Given the description of an element on the screen output the (x, y) to click on. 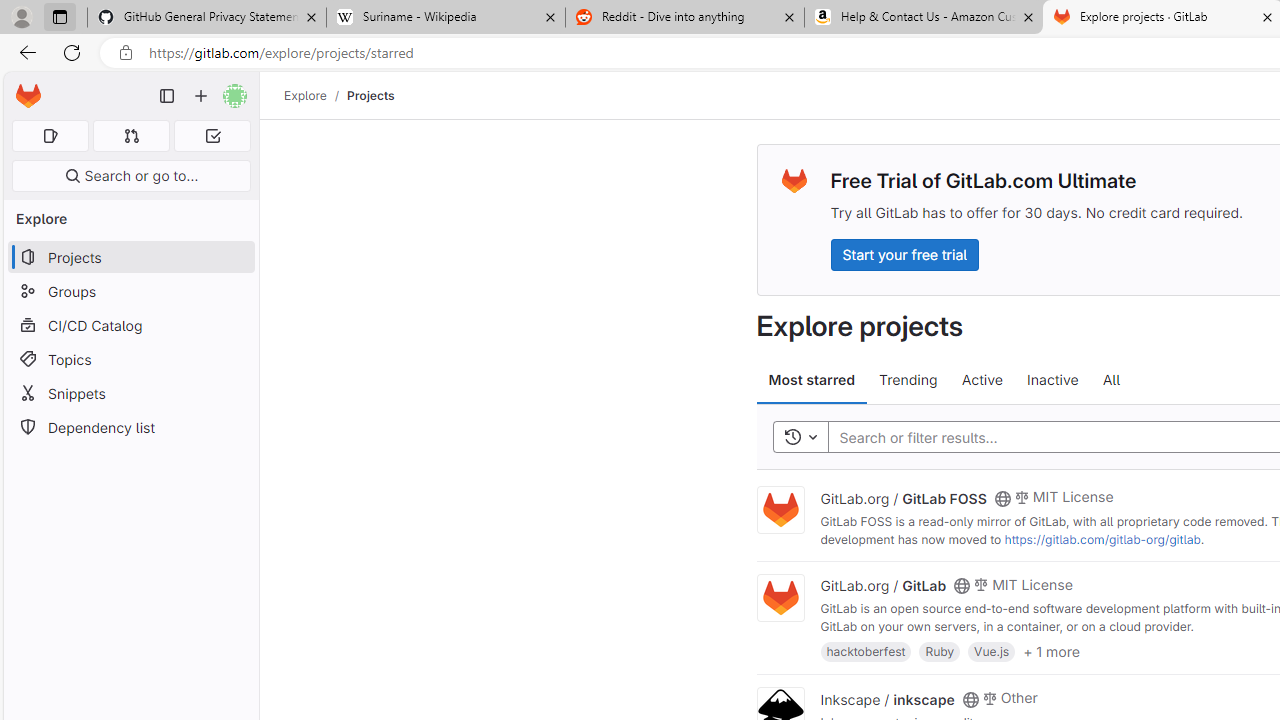
Projects (370, 95)
Class: s14 gl-mr-2 (989, 696)
Primary navigation sidebar (167, 96)
To-Do list 0 (212, 136)
Most starred (811, 379)
Topics (130, 358)
Assigned issues 0 (50, 136)
Groups (130, 291)
Explore (305, 95)
+ 1 more (1051, 650)
GitHub General Privacy Statement - GitHub Docs (207, 17)
CI/CD Catalog (130, 325)
